Given the description of an element on the screen output the (x, y) to click on. 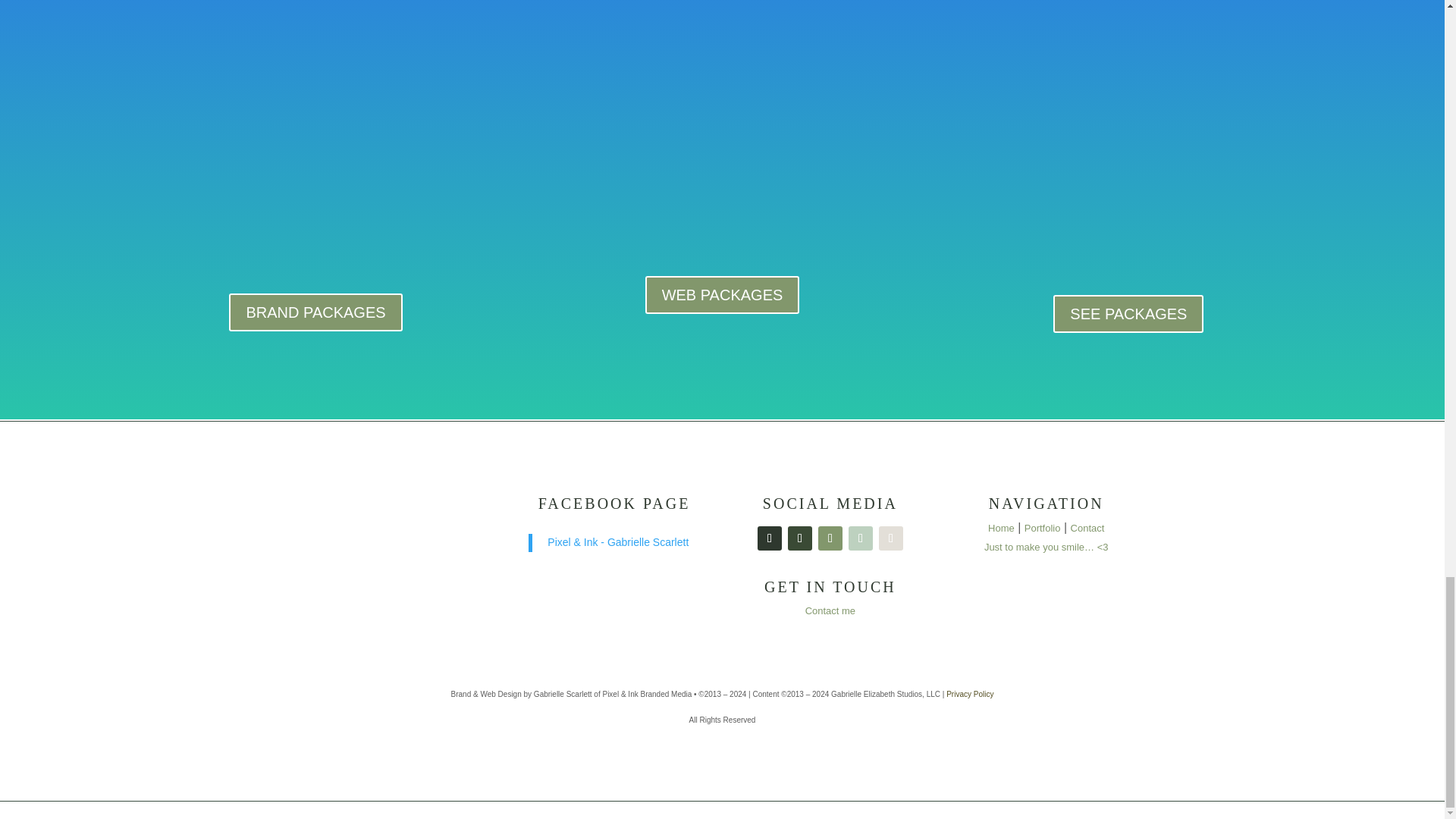
Follow on Instagram (769, 538)
Follow on Facebook (799, 538)
